Given the description of an element on the screen output the (x, y) to click on. 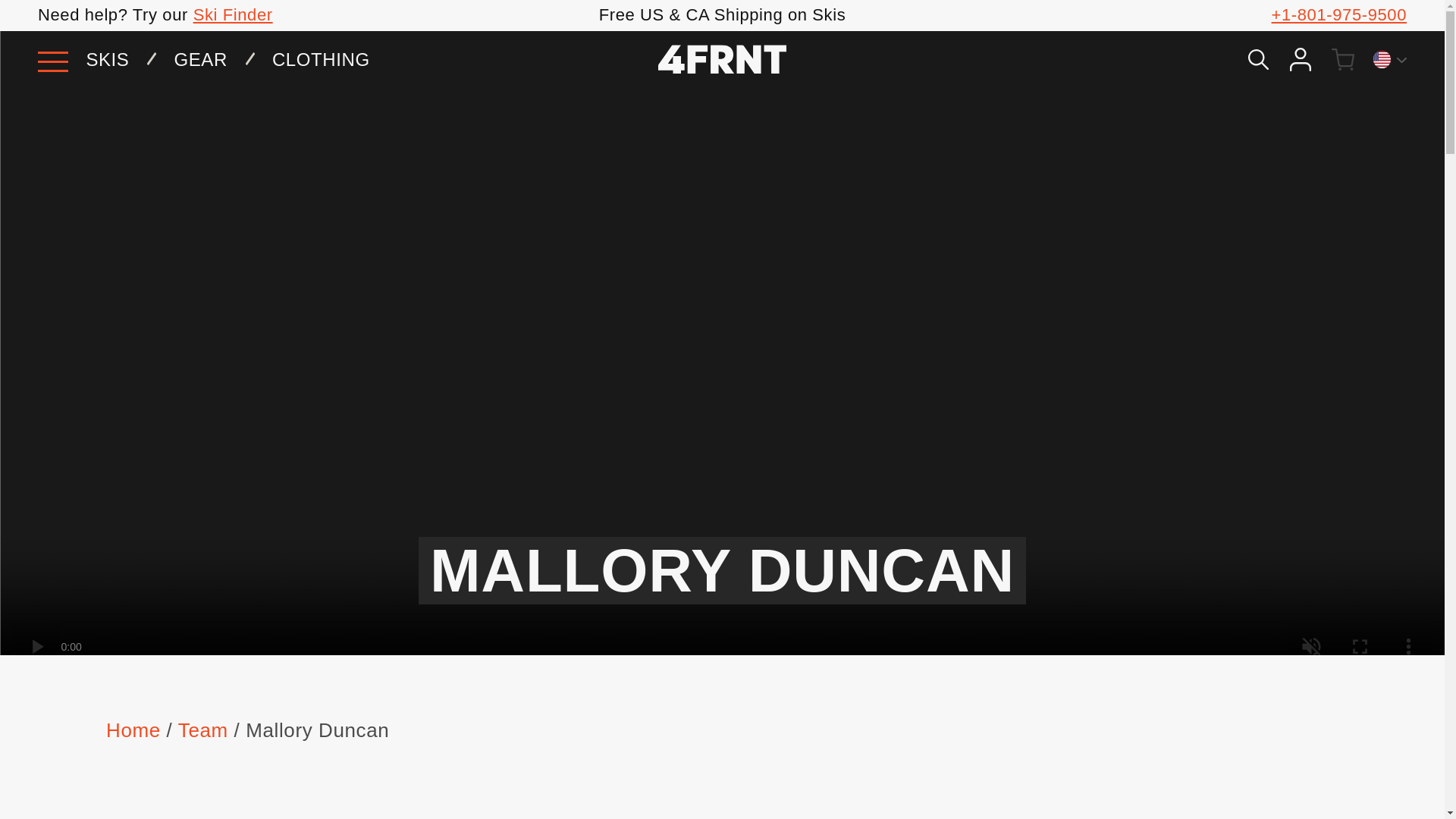
tel:801.075.9500 (1338, 14)
Skip to content (45, 17)
Ski Finder (233, 14)
